Given the description of an element on the screen output the (x, y) to click on. 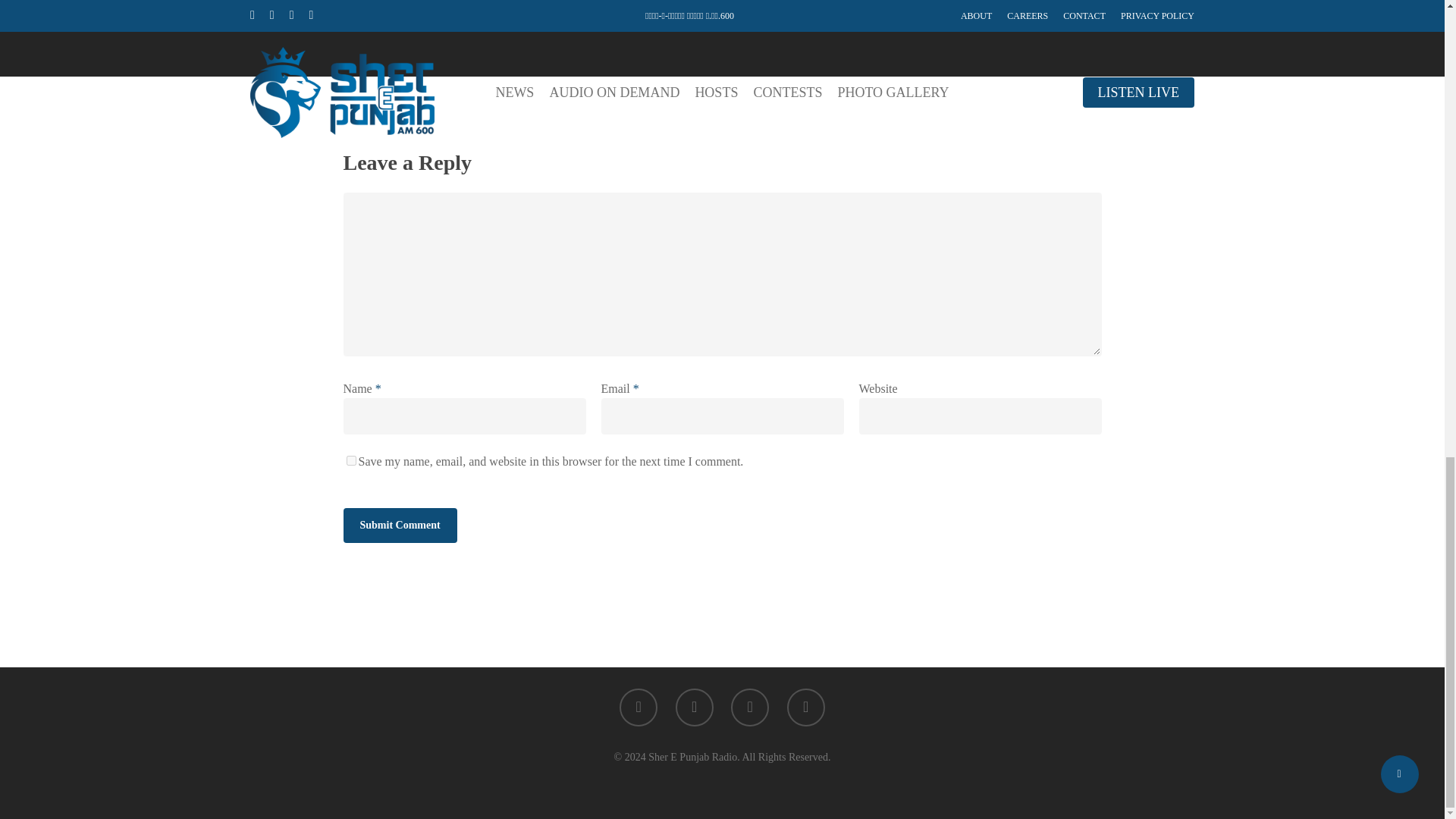
Submit Comment (399, 524)
yes (350, 460)
Submit Comment (399, 524)
